Given the description of an element on the screen output the (x, y) to click on. 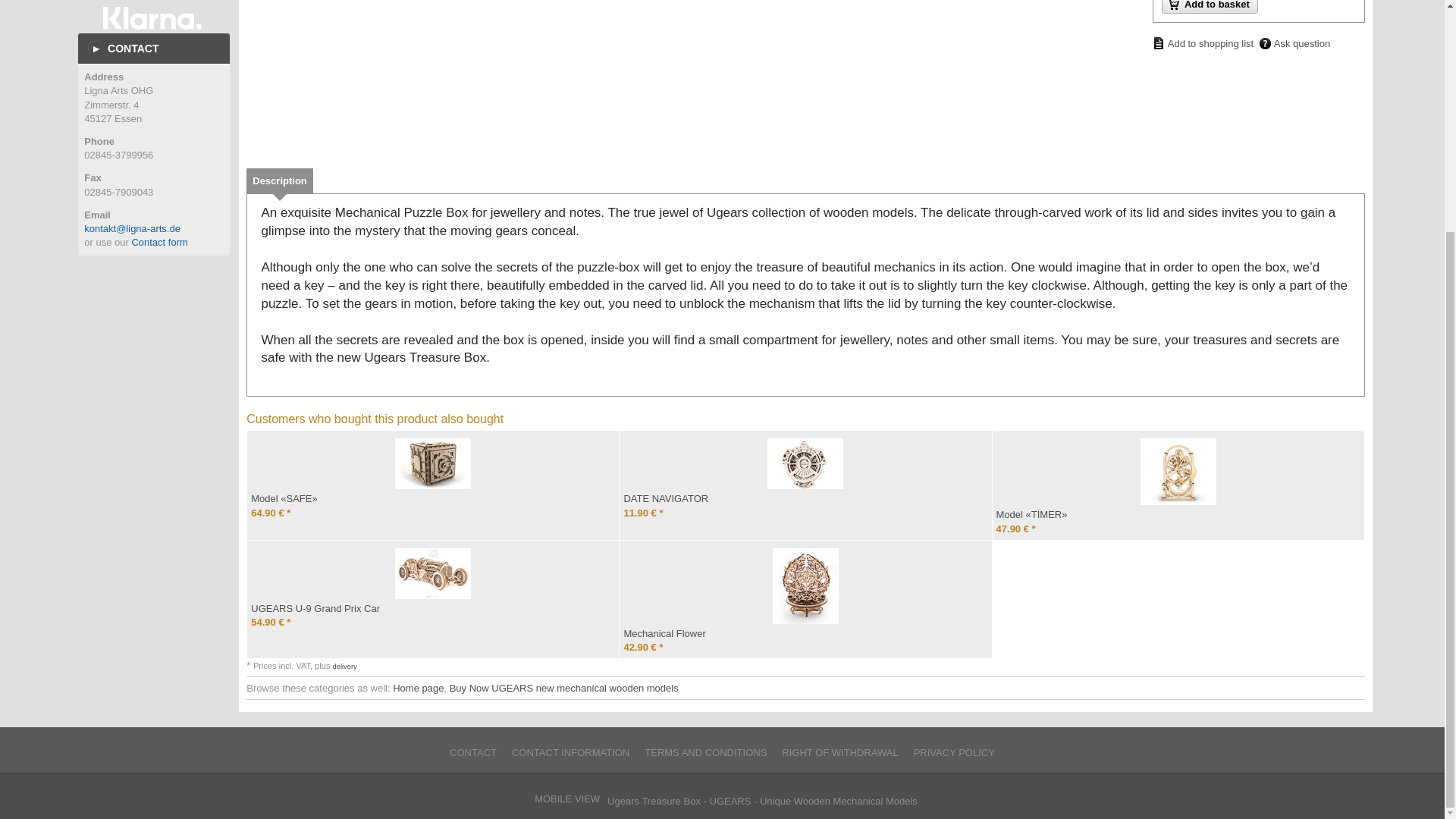
DATE NAVIGATOR (805, 463)
Add to shopping list (1203, 42)
UGEARS U-9 Grand Prix Car (432, 572)
Ask question (1294, 43)
Add to shopping list (1203, 42)
Contact form (159, 242)
Add to basket (1209, 6)
